Given the description of an element on the screen output the (x, y) to click on. 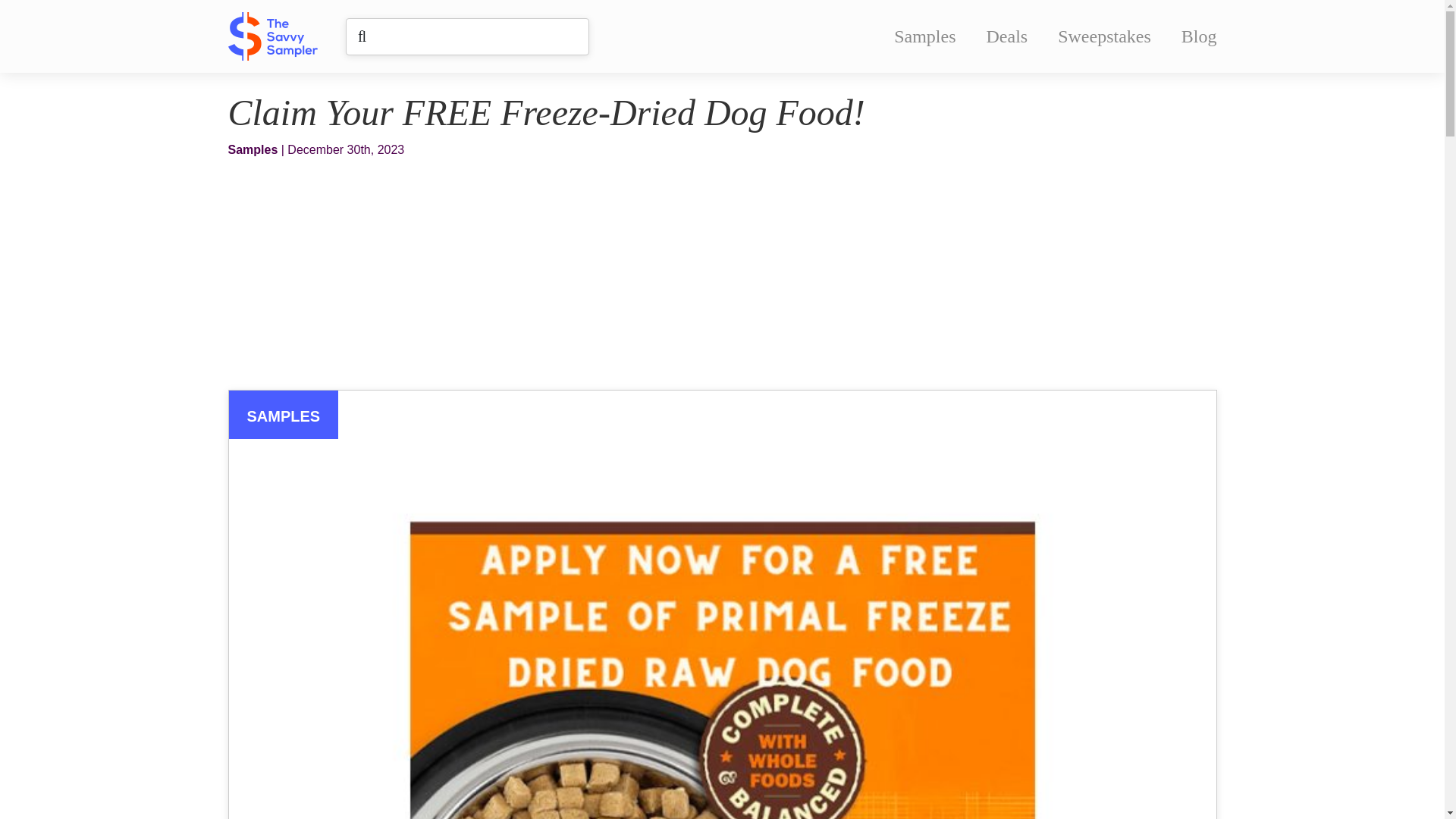
Samples (924, 35)
Sweepstakes (1104, 35)
Deals (1007, 35)
Blog (1198, 35)
